Given the description of an element on the screen output the (x, y) to click on. 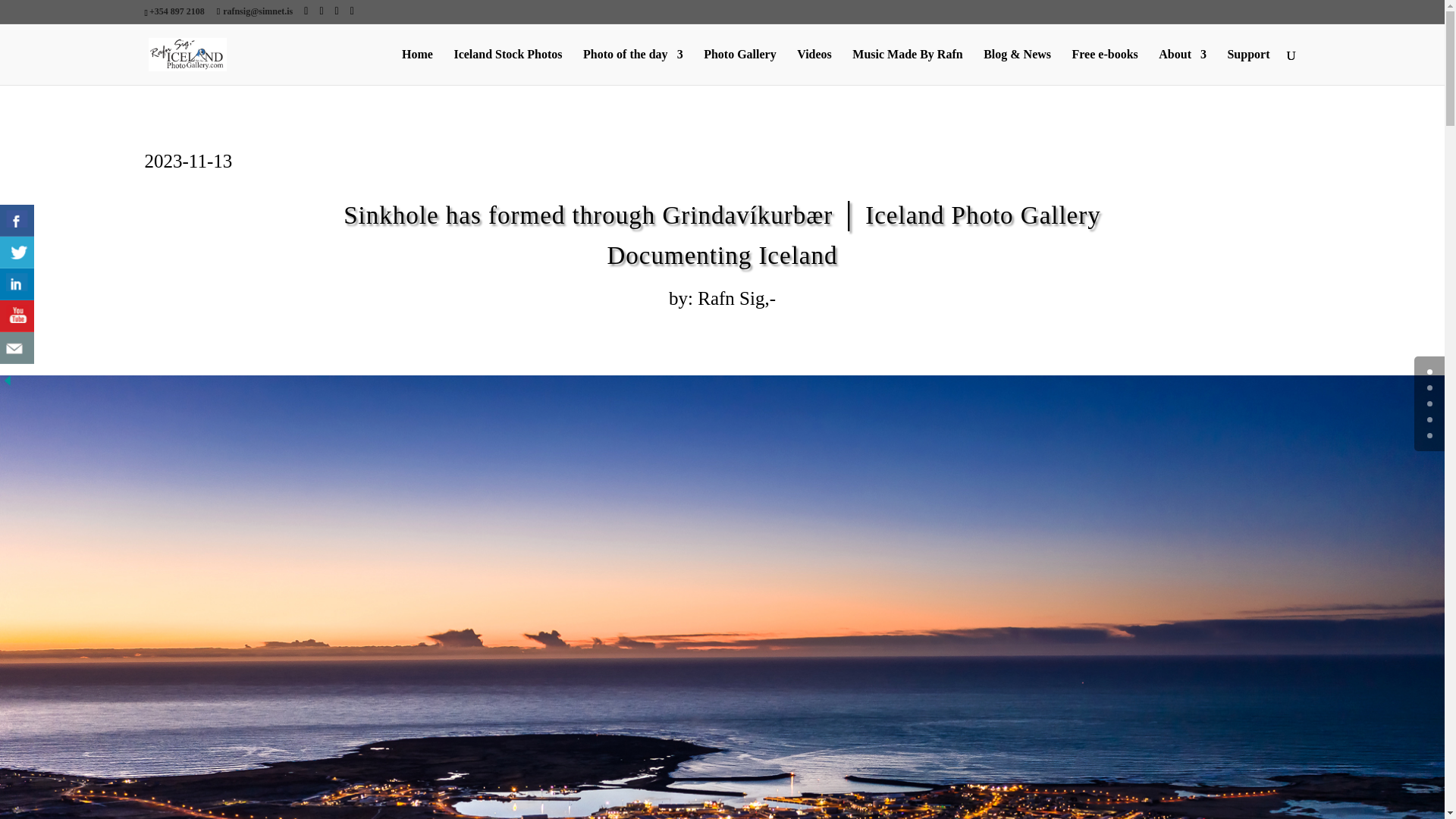
About (1182, 67)
Home (416, 67)
Photo of the day (632, 67)
Free e-books (1104, 67)
Iceland Stock Photos (507, 67)
Music Made By Rafn (906, 67)
Photo Gallery (739, 67)
Videos (813, 67)
Go to Photo Gallery (507, 67)
